Given the description of an element on the screen output the (x, y) to click on. 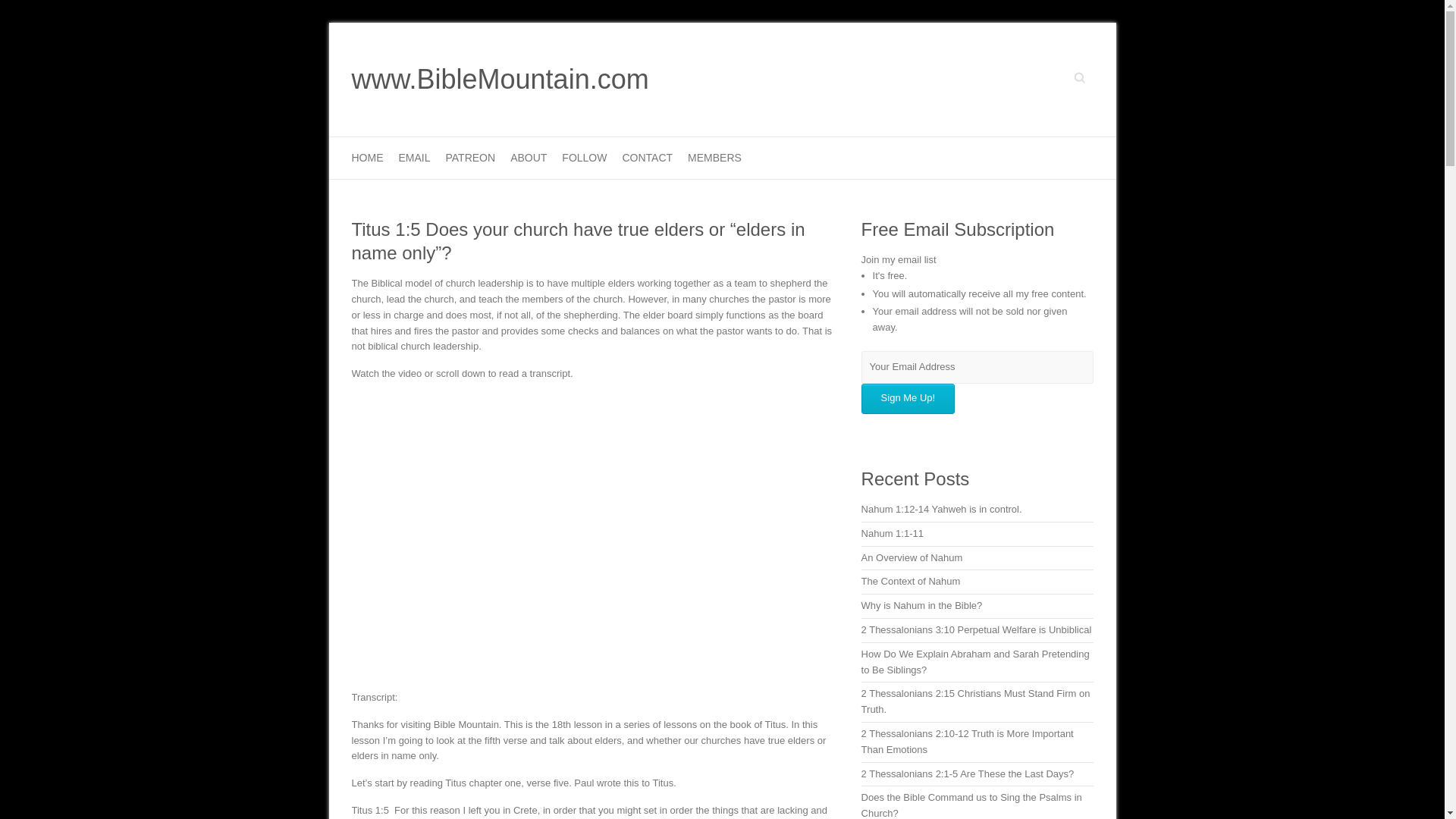
www.BibleMountain.com (500, 79)
www.BibleMountain.com (500, 79)
Sign Me Up! (908, 399)
FOLLOW (584, 158)
Sign Me Up! (908, 399)
PATREON (470, 158)
MEMBERS (714, 158)
Nahum 1:12-14 Yahweh is in control. (941, 509)
CONTACT (646, 158)
